Given the description of an element on the screen output the (x, y) to click on. 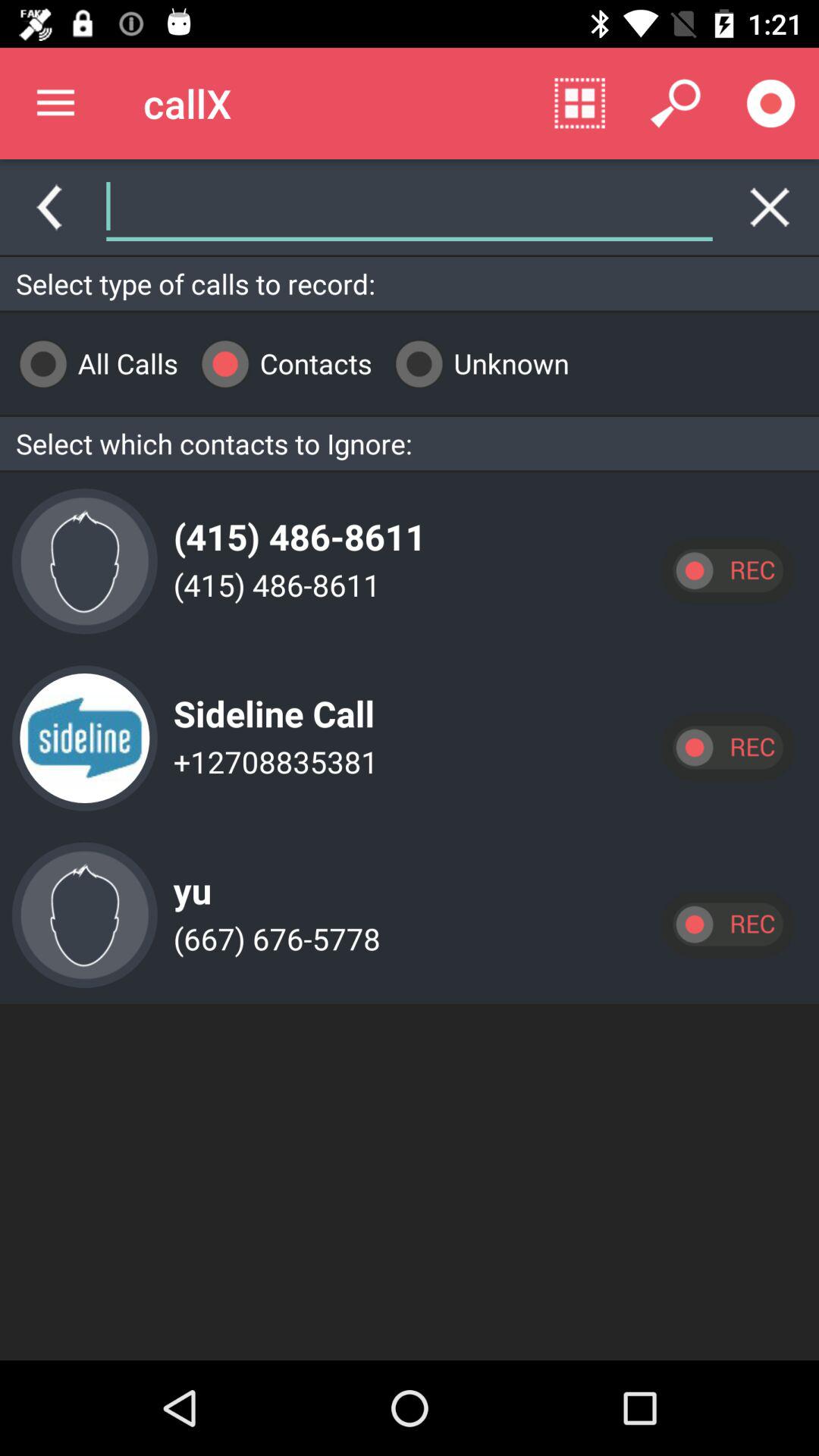
open item above select which contacts (476, 363)
